Given the description of an element on the screen output the (x, y) to click on. 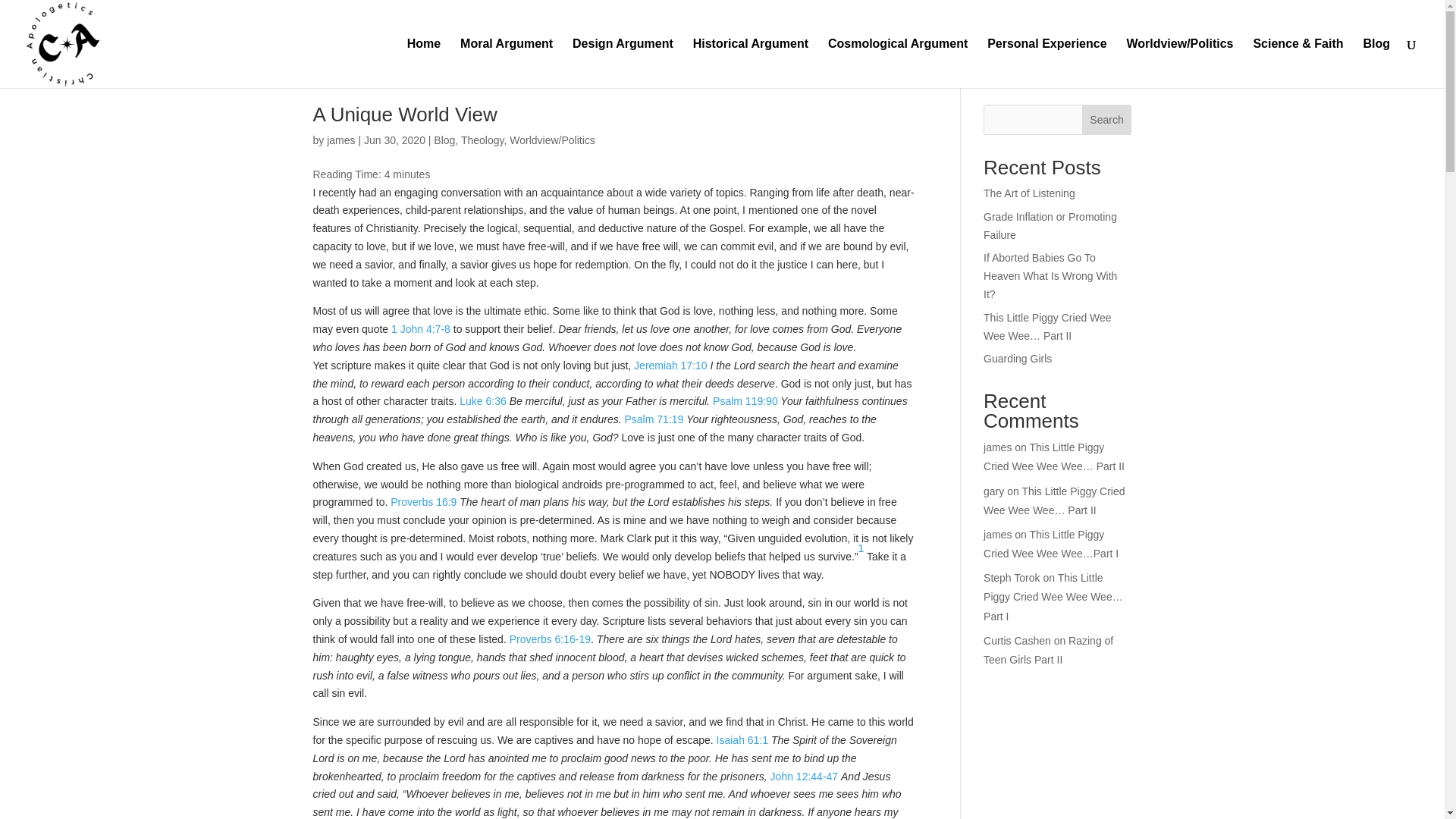
Jeremiah 17:10 (670, 365)
Luke 6:36 (483, 400)
Psalm 71:19 (653, 419)
Proverbs 6:16-19 (550, 639)
Posts by james (340, 140)
John 12:44-47 (804, 776)
Theology (482, 140)
Proverbs 16:9 (423, 501)
Personal Experience (1046, 62)
1 John 4:7-8 (420, 328)
